Given the description of an element on the screen output the (x, y) to click on. 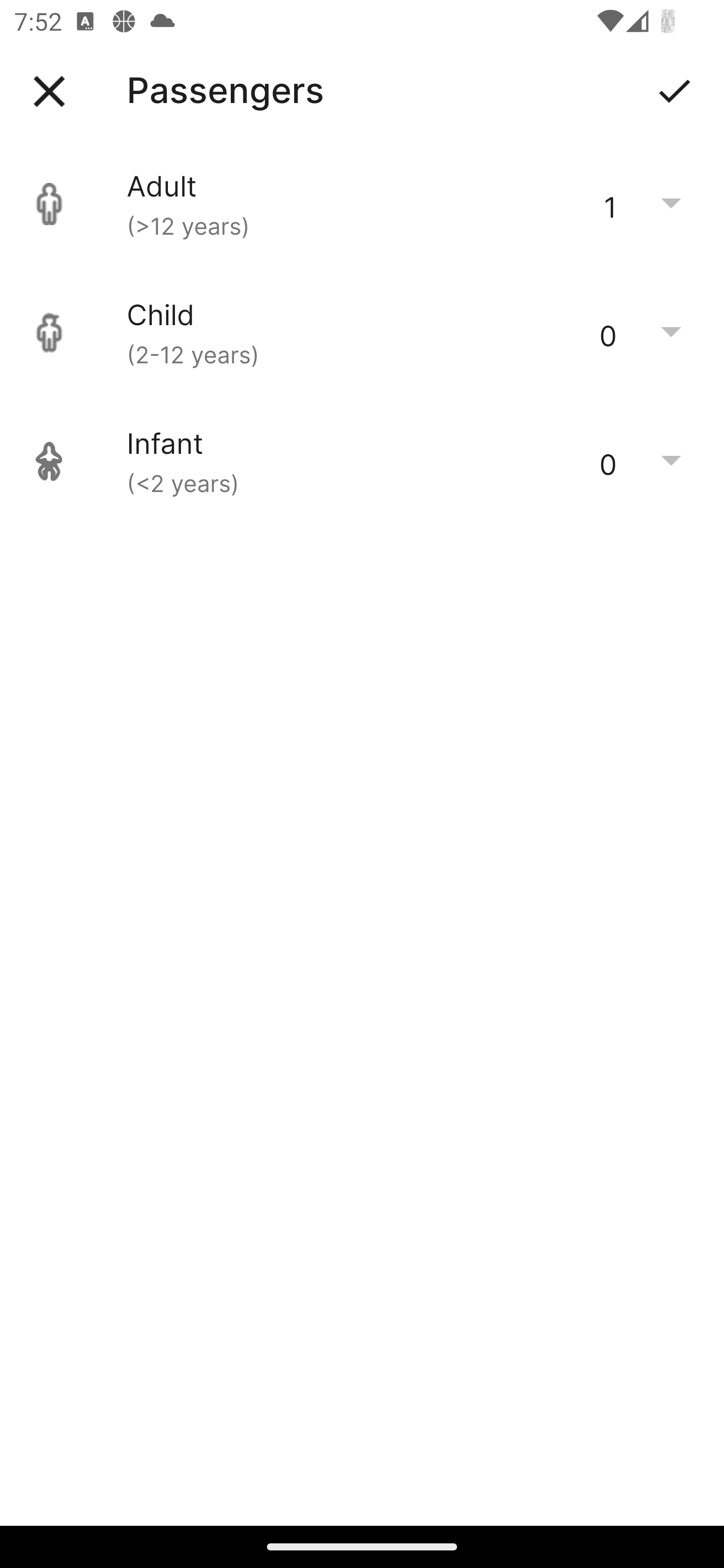
Adult (>12 years) 1 (362, 204)
Child (2-12 years) 0 (362, 332)
Infant (<2 years) 0 (362, 461)
